Given the description of an element on the screen output the (x, y) to click on. 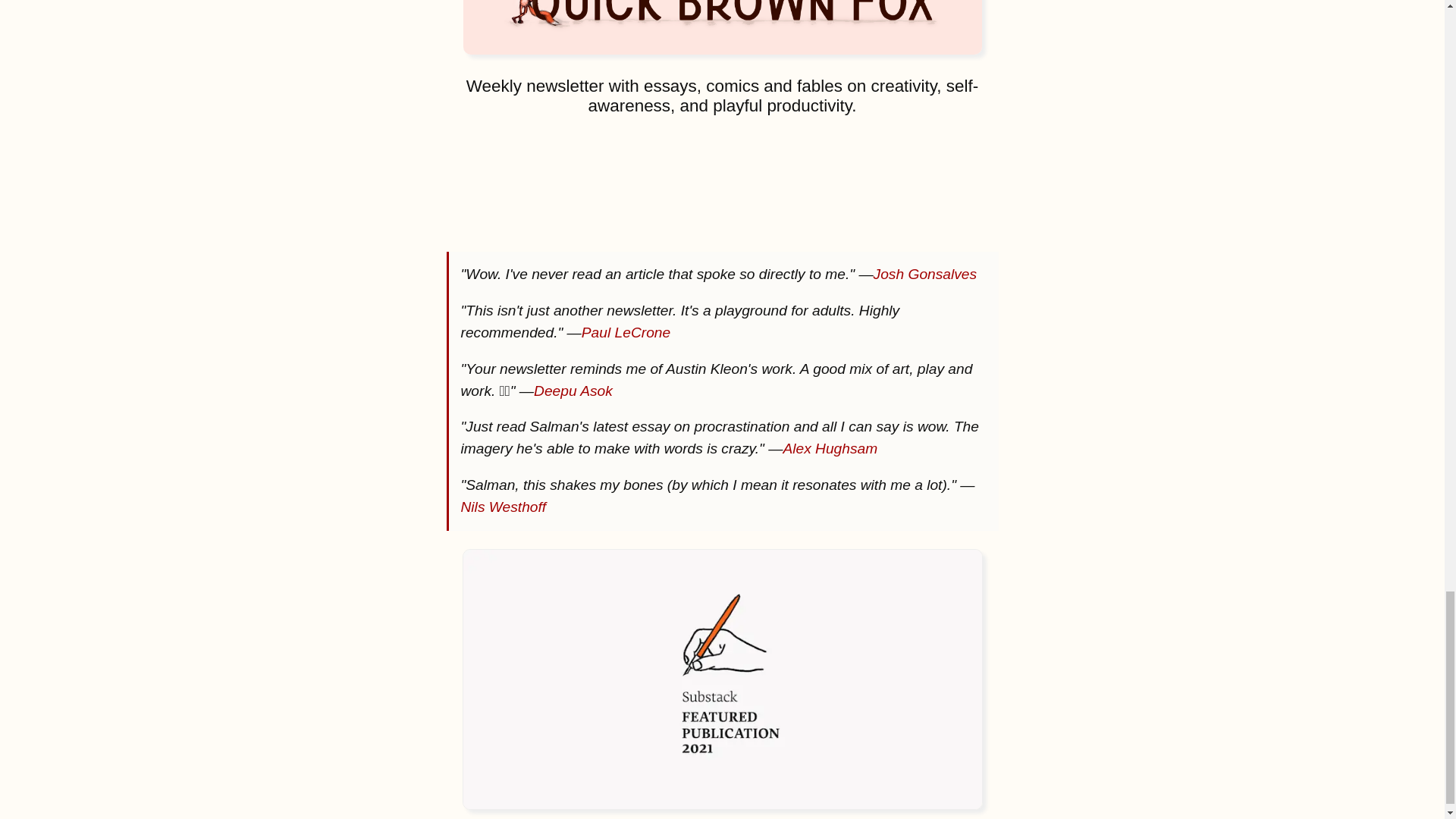
Paul LeCrone (624, 332)
Deepu Asok (573, 390)
Alex Hughsam (830, 448)
Alex Hughsam on Twitter (830, 448)
Paul LeCrone on Twitter (624, 332)
Josh Gonsalves on Twitter (924, 273)
Nils Westhoff (718, 517)
Nils Westhoff on Twitter (718, 517)
Josh Gonsalves (924, 273)
Subscribe to Quick Brown Fox (721, 176)
Quick Brown Fox Newsletter (722, 27)
Deepu Asok on Twitter (573, 390)
